Given the description of an element on the screen output the (x, y) to click on. 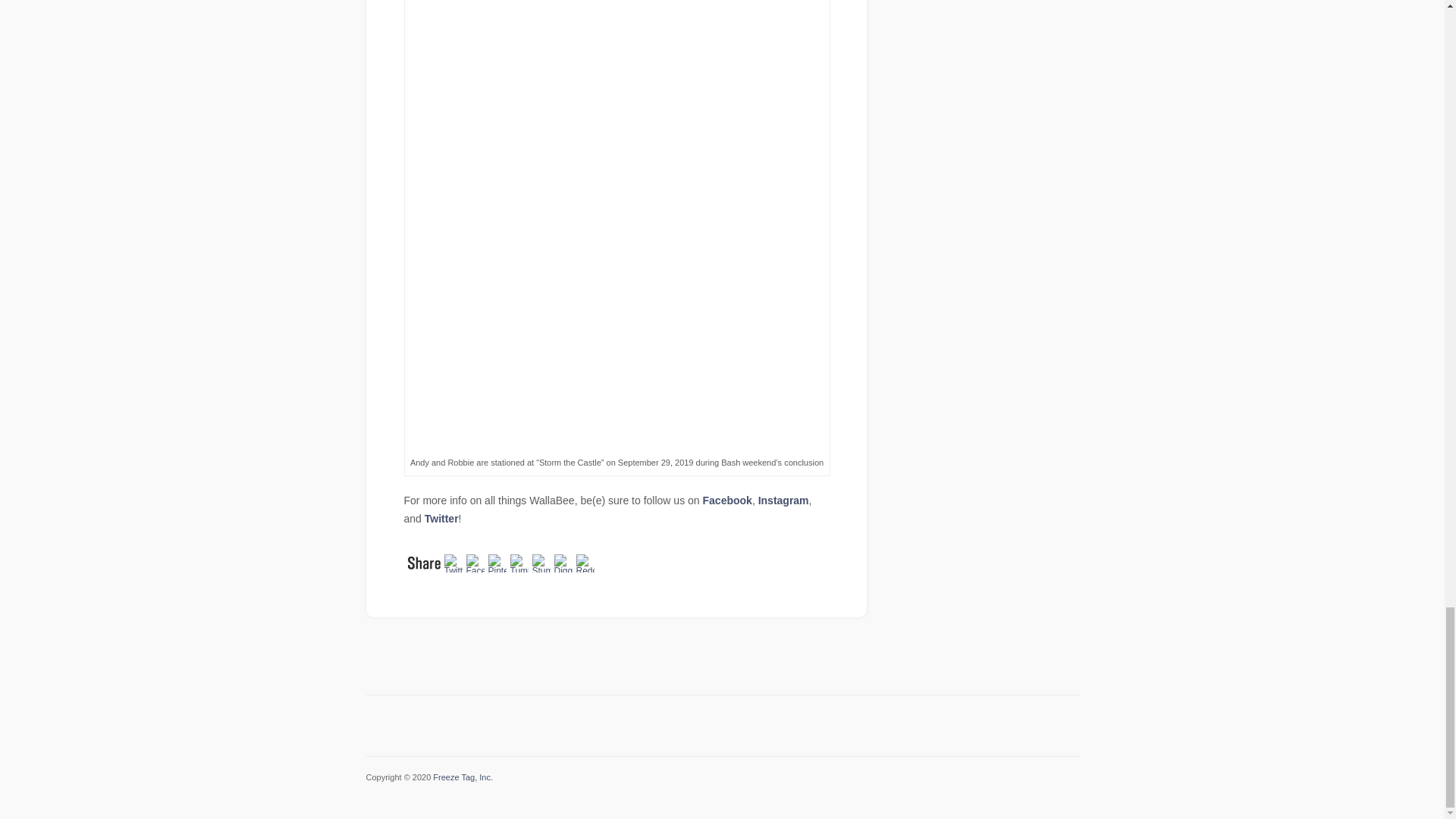
Reddit (587, 561)
Twitter (454, 561)
Twitter (441, 518)
Facebook (727, 500)
Pinterest (499, 561)
Instagram (783, 500)
Tumblr (520, 561)
Digg (564, 561)
StumbleUpon (543, 561)
Facebook (476, 561)
